Given the description of an element on the screen output the (x, y) to click on. 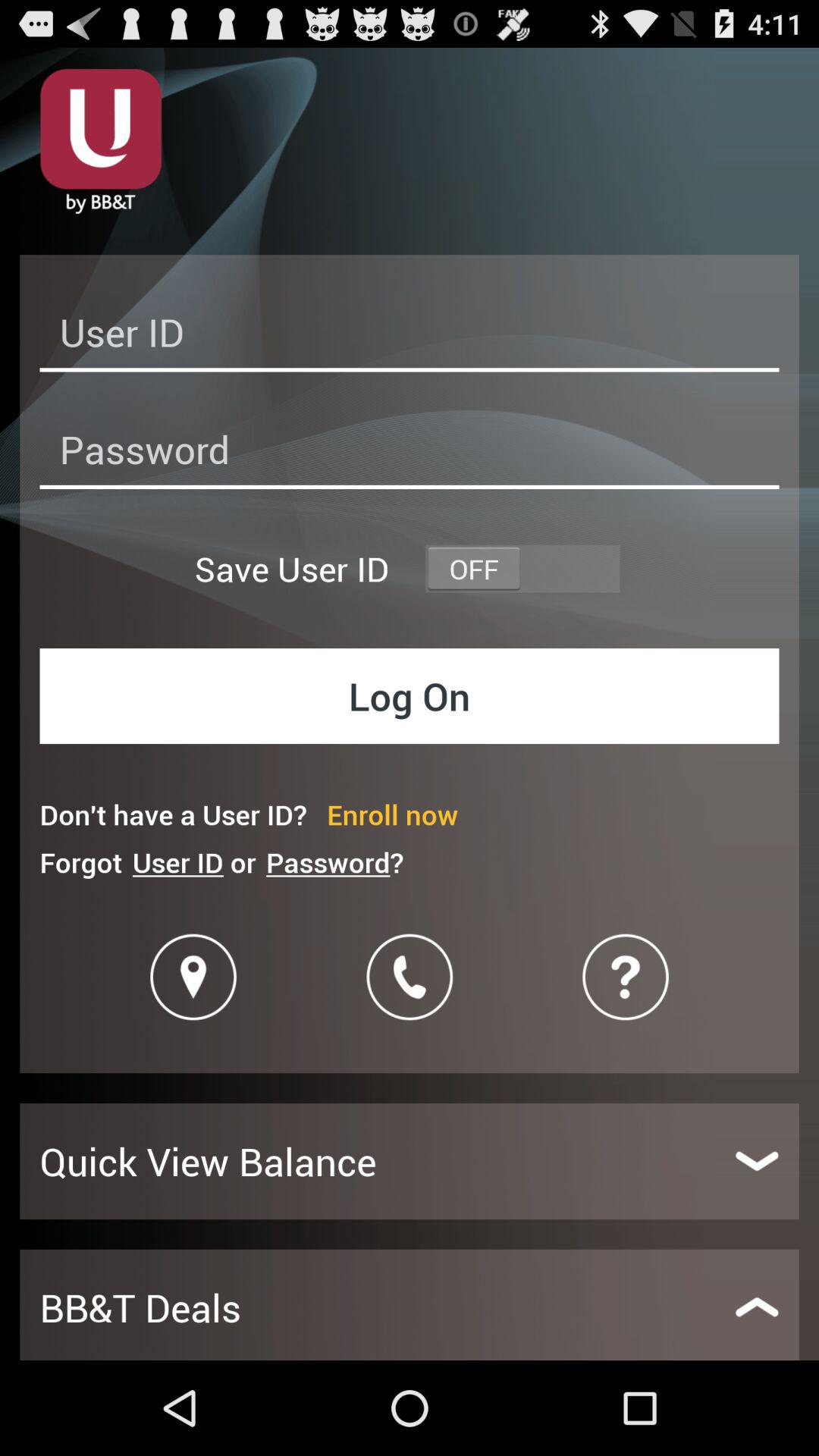
tap item above the don t have item (409, 695)
